Given the description of an element on the screen output the (x, y) to click on. 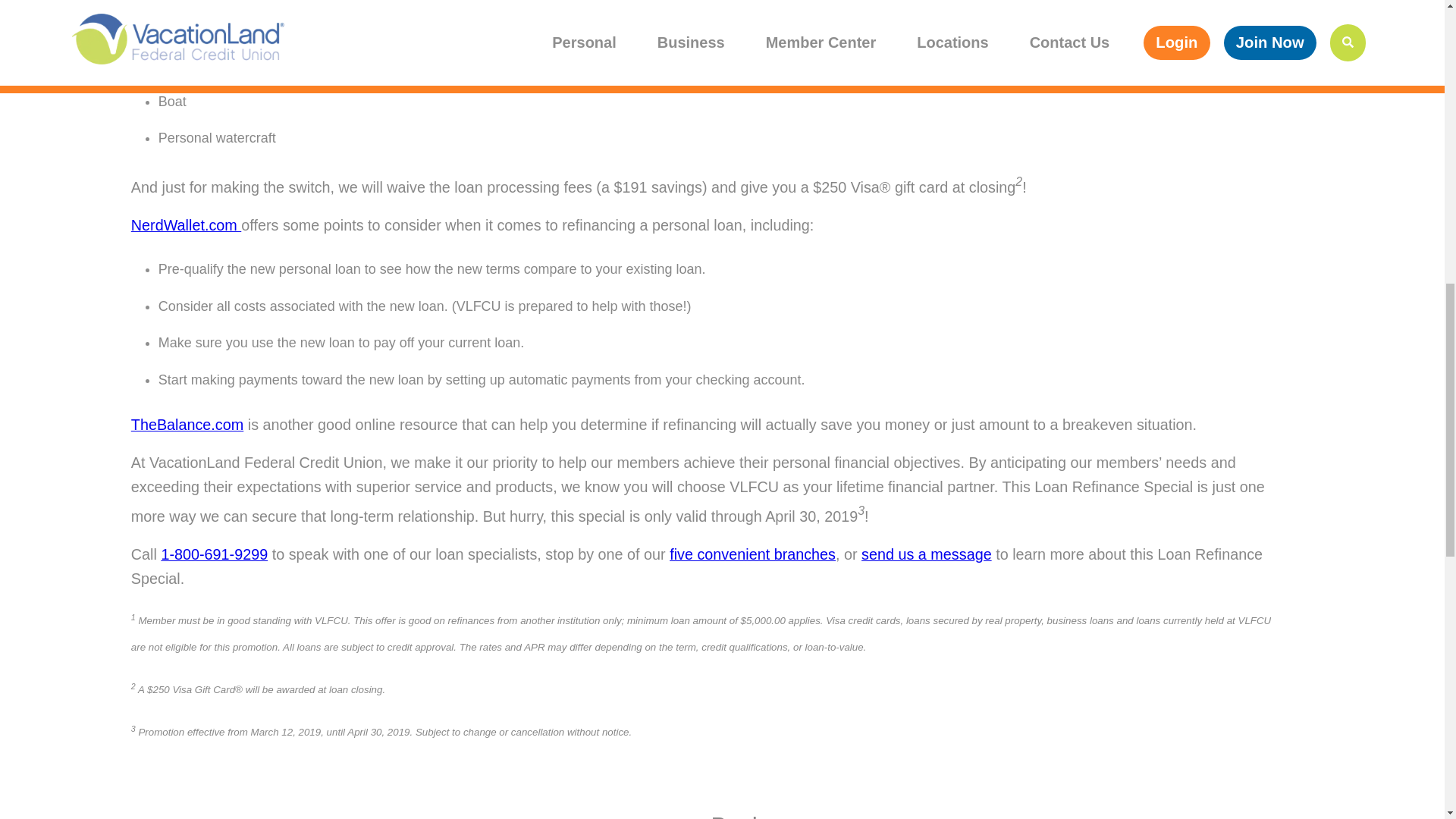
contact us (926, 554)
TheBalance.com (187, 424)
1-800-691-9299 (213, 554)
locations (752, 554)
click to call (213, 554)
NerdWallet.com (186, 225)
TheBalance.com (187, 424)
NerdWallet.com (186, 225)
